Given the description of an element on the screen output the (x, y) to click on. 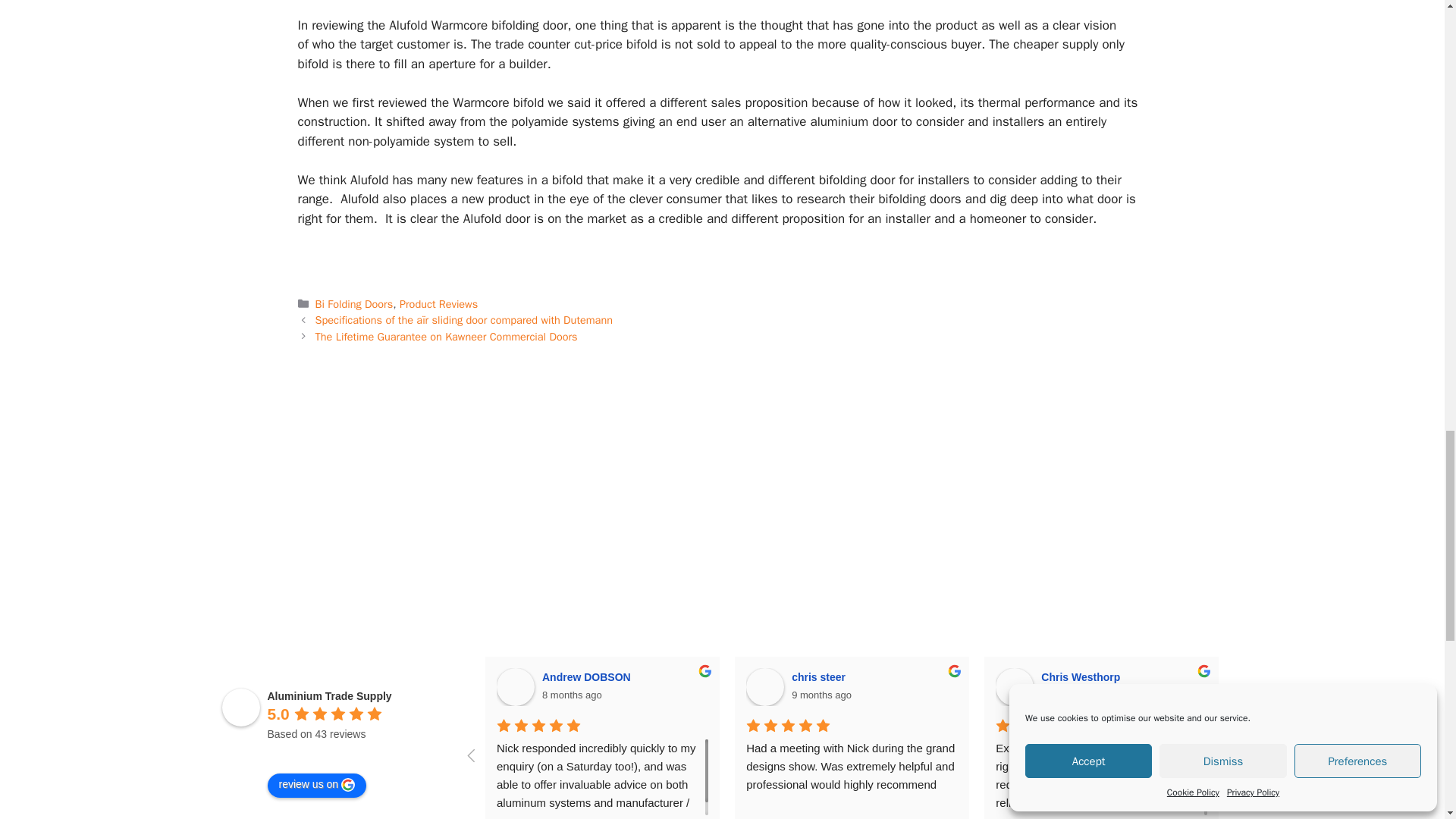
Andrew DOBSON (515, 686)
Bi Folding Doors (354, 304)
The Lifetime Guarantee on Kawneer Commercial Doors (446, 336)
aluco (904, 463)
6-day-doors (904, 561)
Chris Westhorp (1014, 686)
glasswin-logo-sml (1269, 463)
attlas (540, 561)
Aluminium Trade Supply (328, 695)
Cathy Greenwood (1263, 686)
Andrew DOBSON (587, 676)
chris steer (764, 686)
logo-sunvista (175, 561)
Aluminium Trade Supply (240, 707)
powered by Google (320, 753)
